Given the description of an element on the screen output the (x, y) to click on. 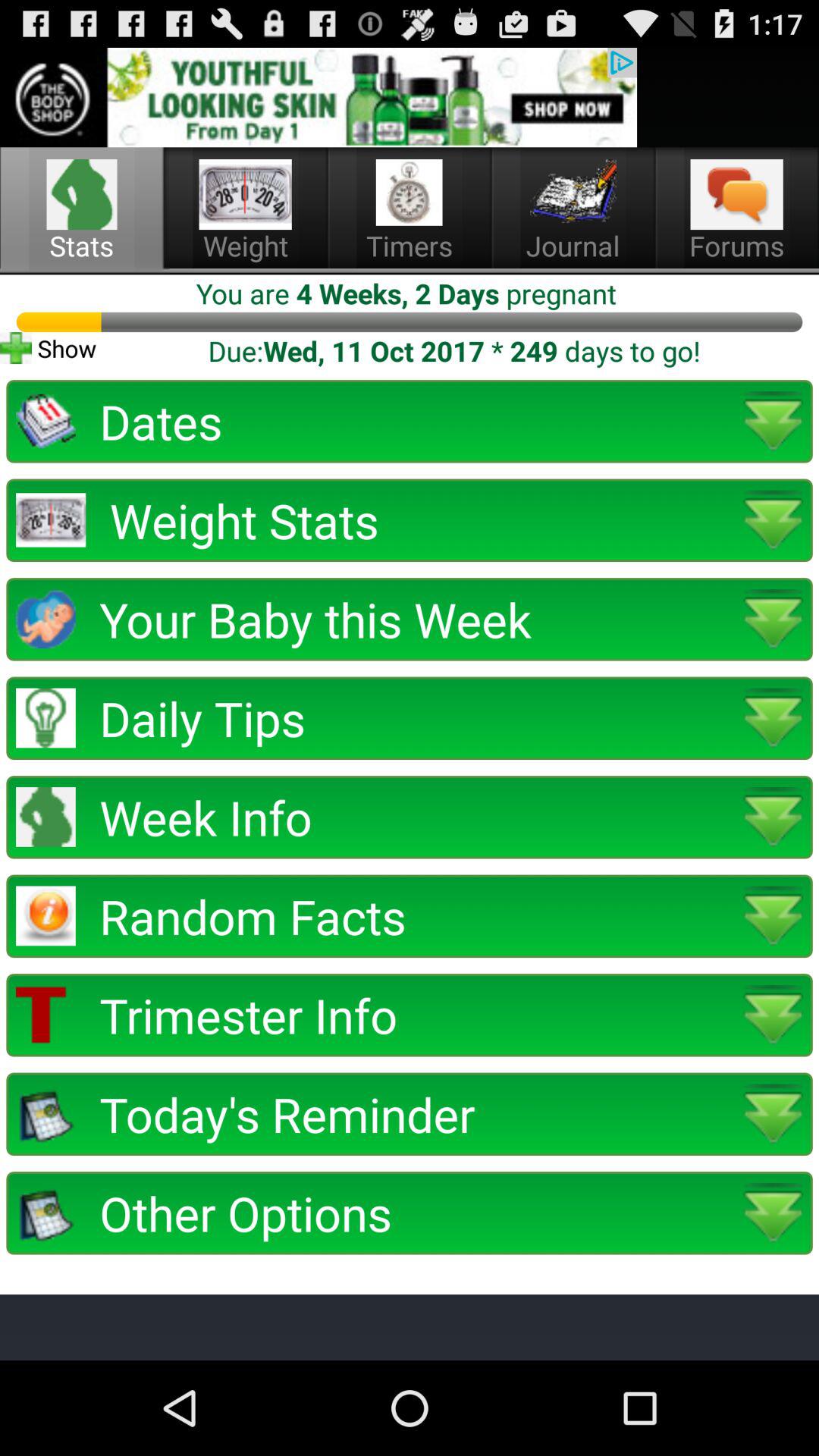
advertisement banner (318, 97)
